Given the description of an element on the screen output the (x, y) to click on. 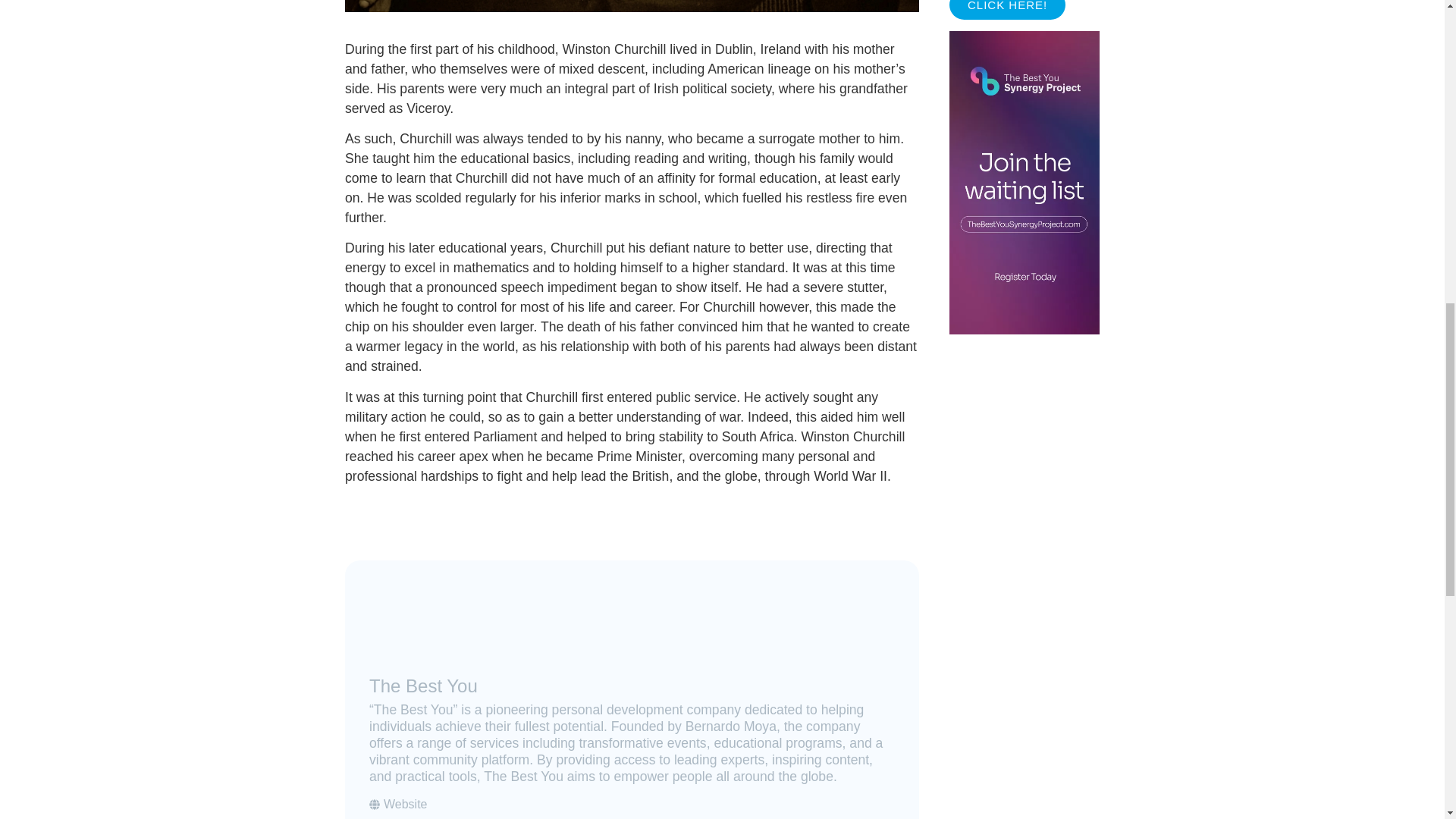
Website (398, 804)
